Given the description of an element on the screen output the (x, y) to click on. 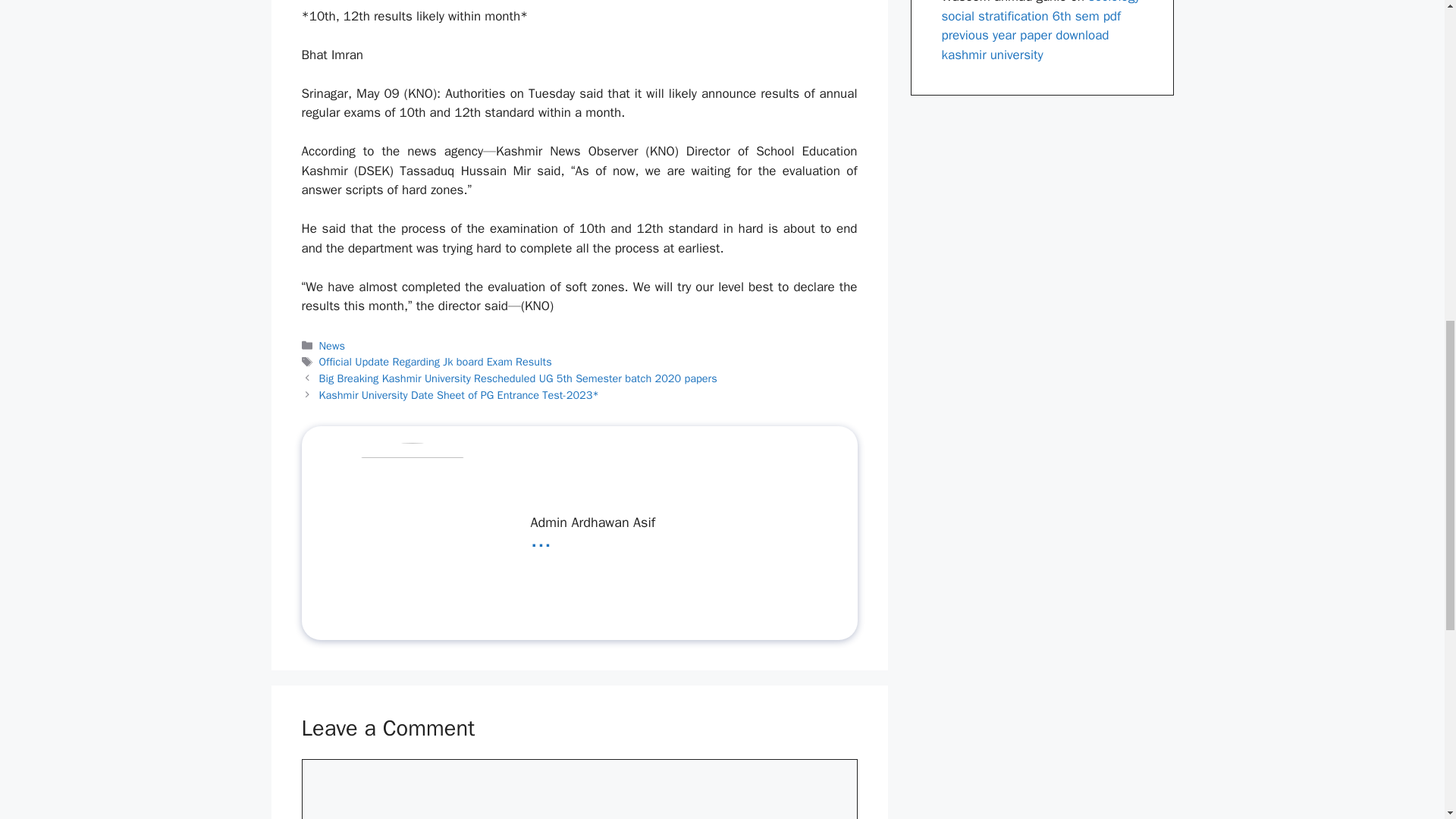
News (331, 345)
Official Update Regarding Jk board Exam Results (434, 361)
Scroll back to top (1406, 720)
